Given the description of an element on the screen output the (x, y) to click on. 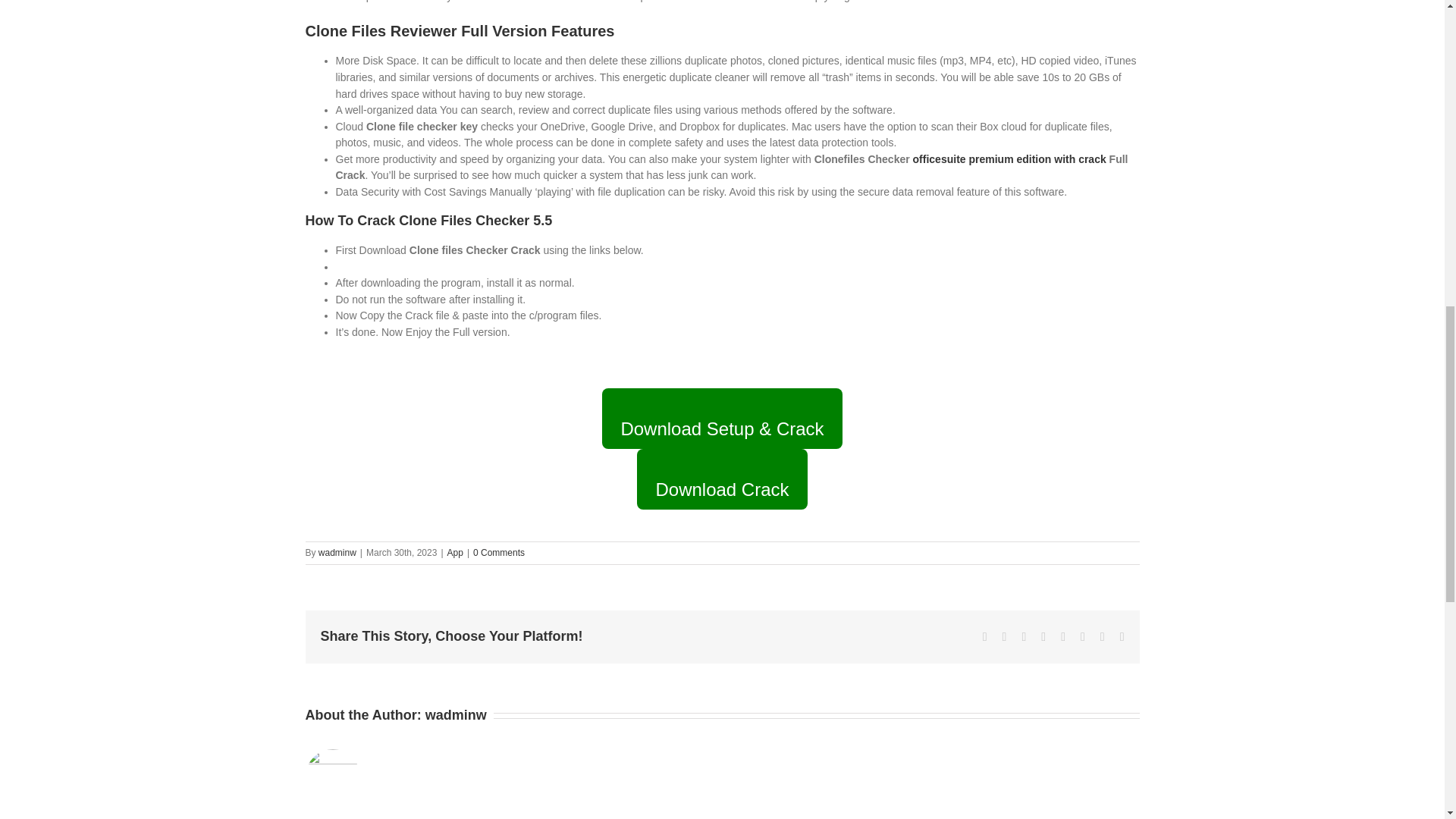
Posts by wadminw (337, 552)
Posts by wadminw (455, 713)
